Given the description of an element on the screen output the (x, y) to click on. 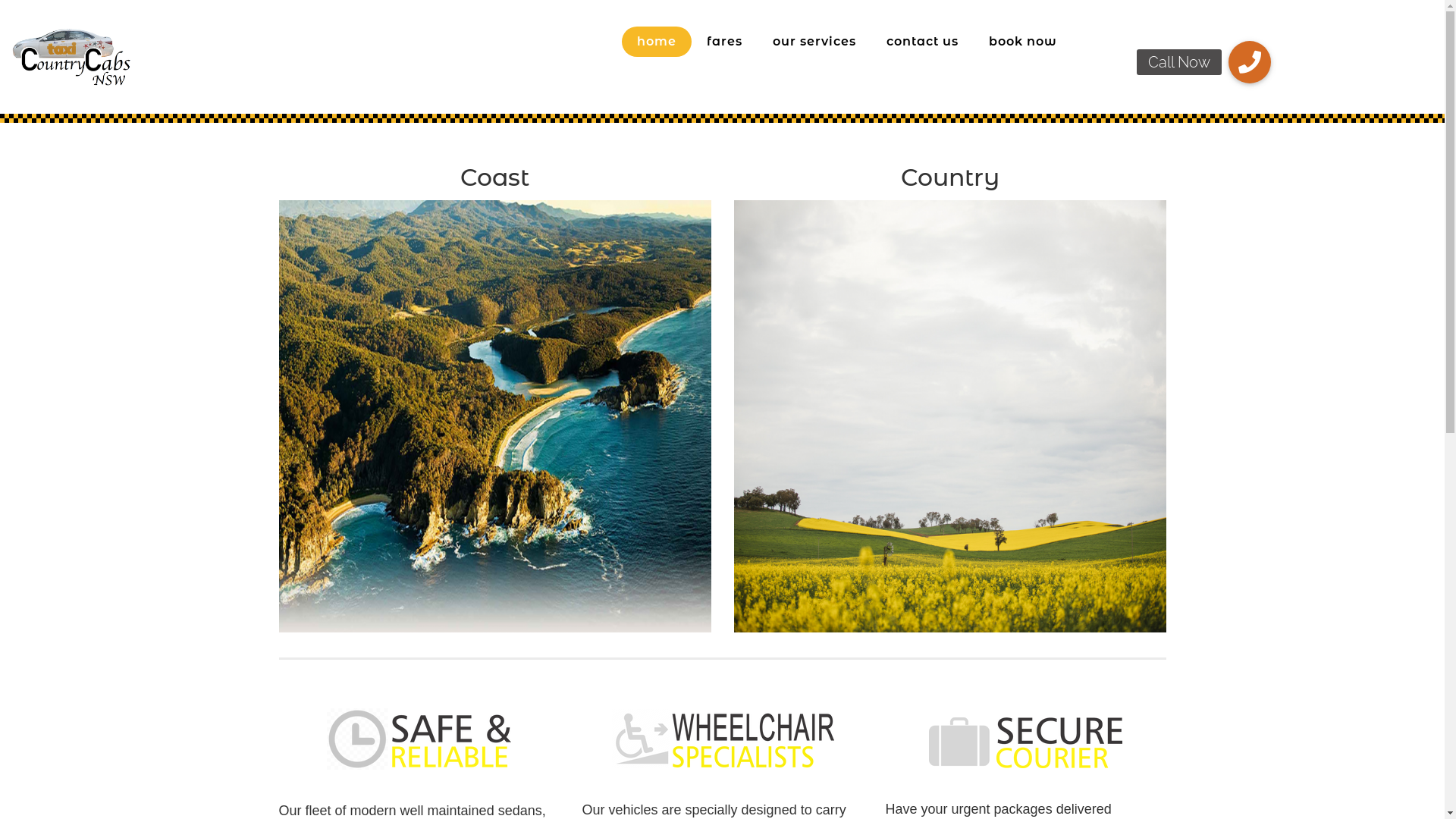
Call Now Element type: text (1249, 61)
home Element type: text (656, 41)
fares Element type: text (724, 41)
contact us Element type: text (922, 41)
book now Element type: text (1022, 41)
our services Element type: text (814, 41)
